Given the description of an element on the screen output the (x, y) to click on. 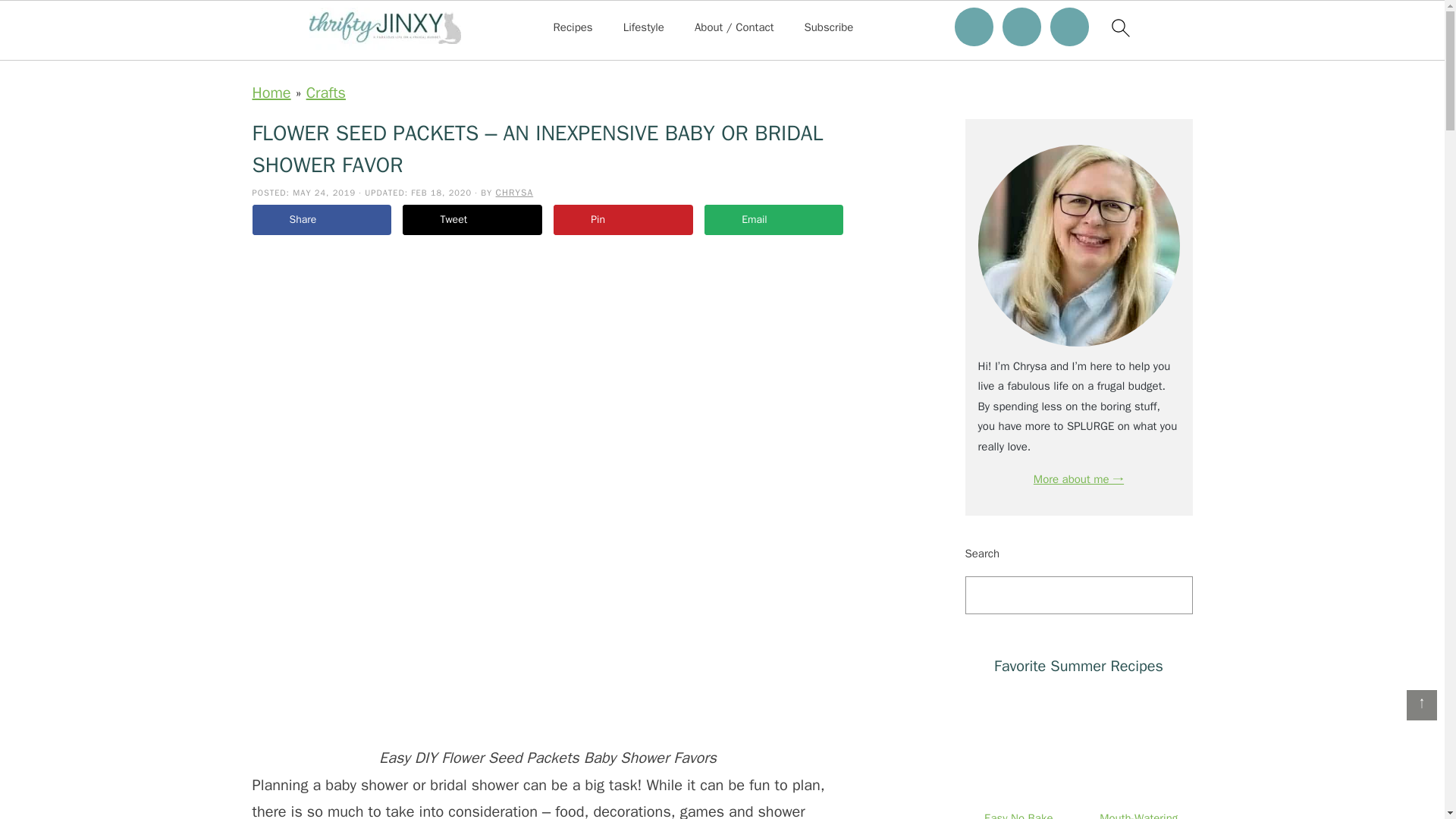
Share on Facebook (320, 219)
Share on X (472, 219)
search icon (1119, 27)
Send over email (773, 219)
Save to Pinterest (623, 219)
